Given the description of an element on the screen output the (x, y) to click on. 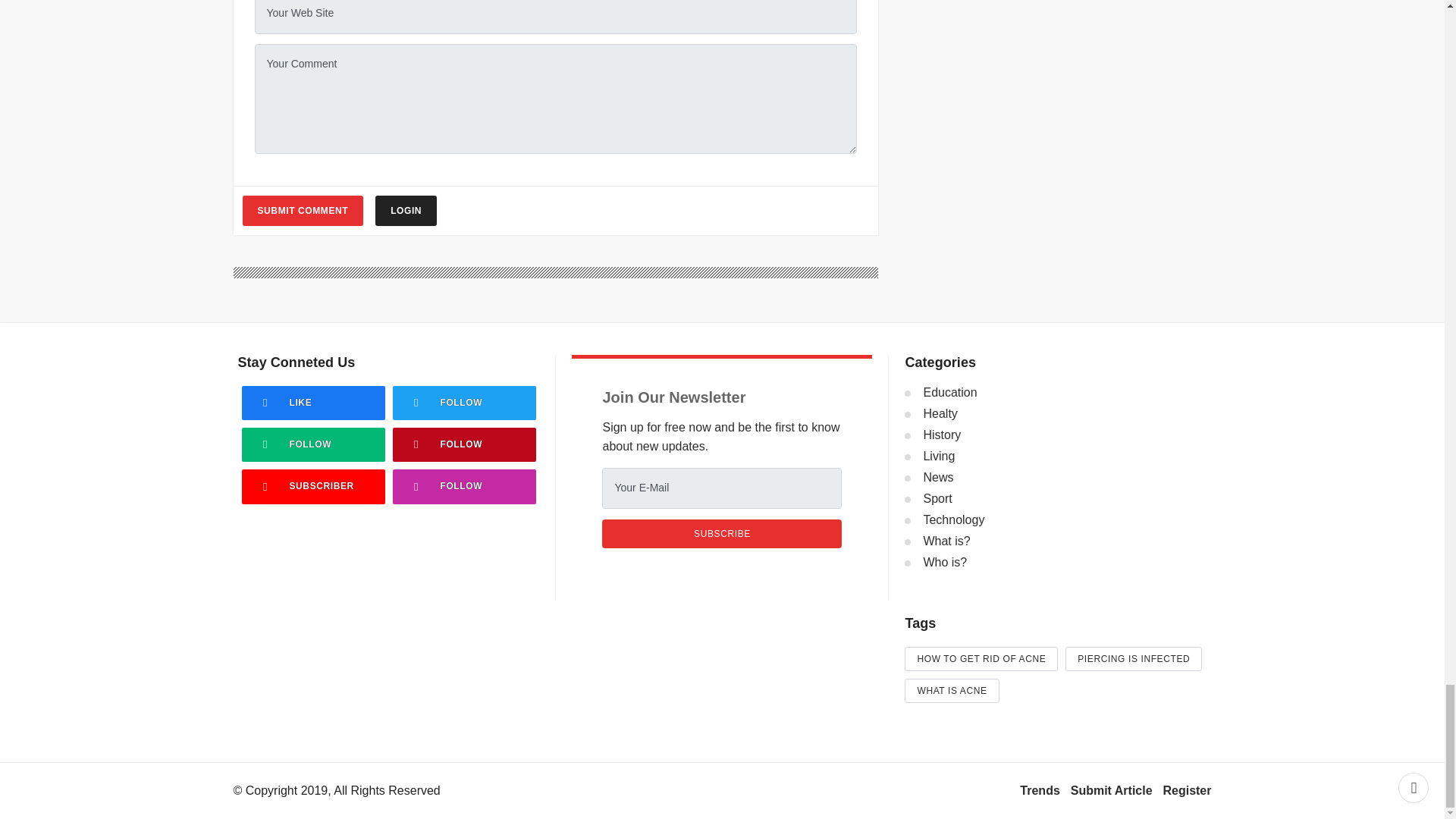
Subscribe (721, 533)
